Given the description of an element on the screen output the (x, y) to click on. 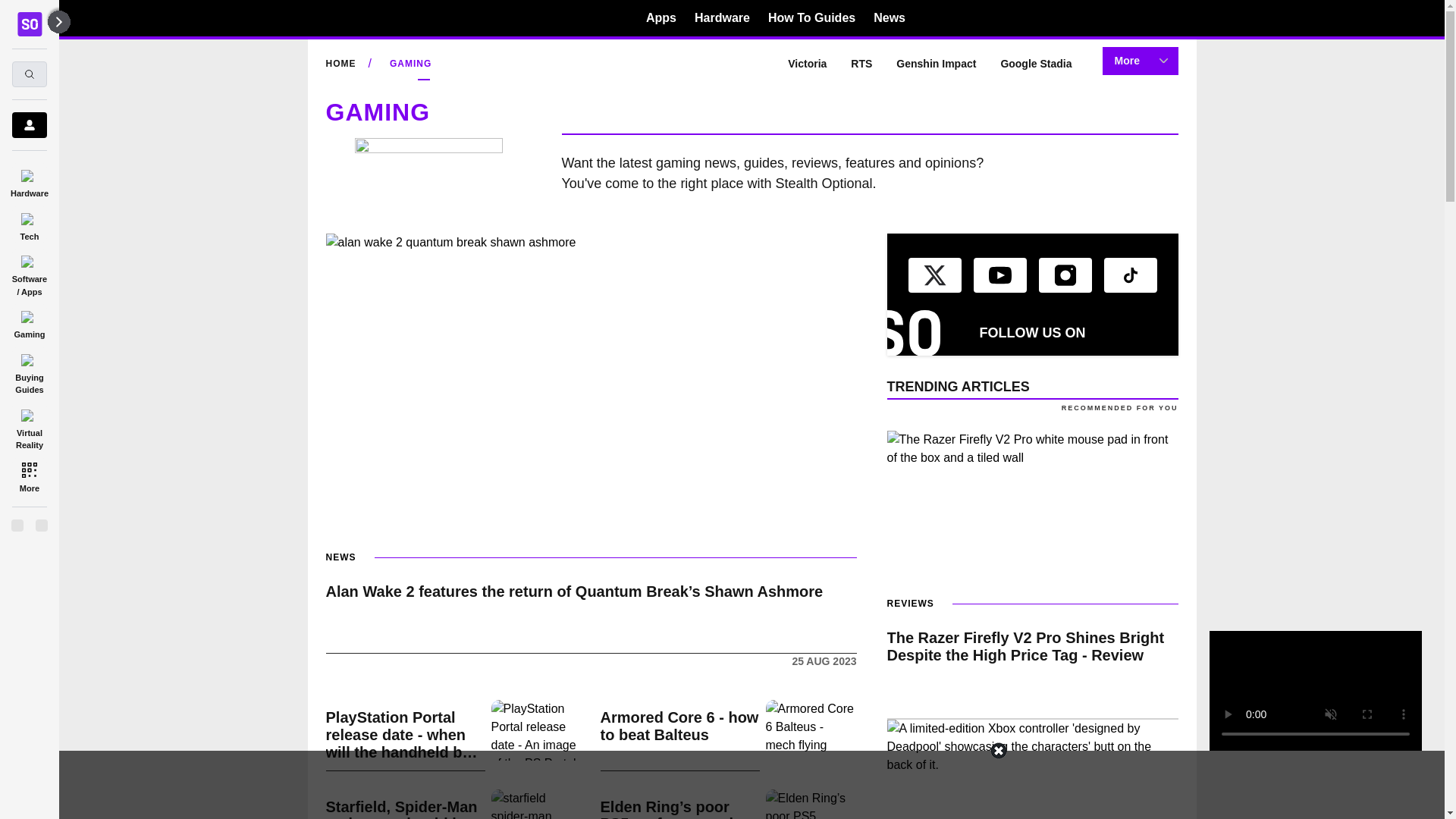
Tech (28, 224)
News (889, 18)
3rd party ad content (721, 785)
Hardware (28, 180)
Gaming (28, 322)
More (28, 476)
How To Guides (812, 18)
Apps (661, 18)
Hardware (721, 18)
